Given the description of an element on the screen output the (x, y) to click on. 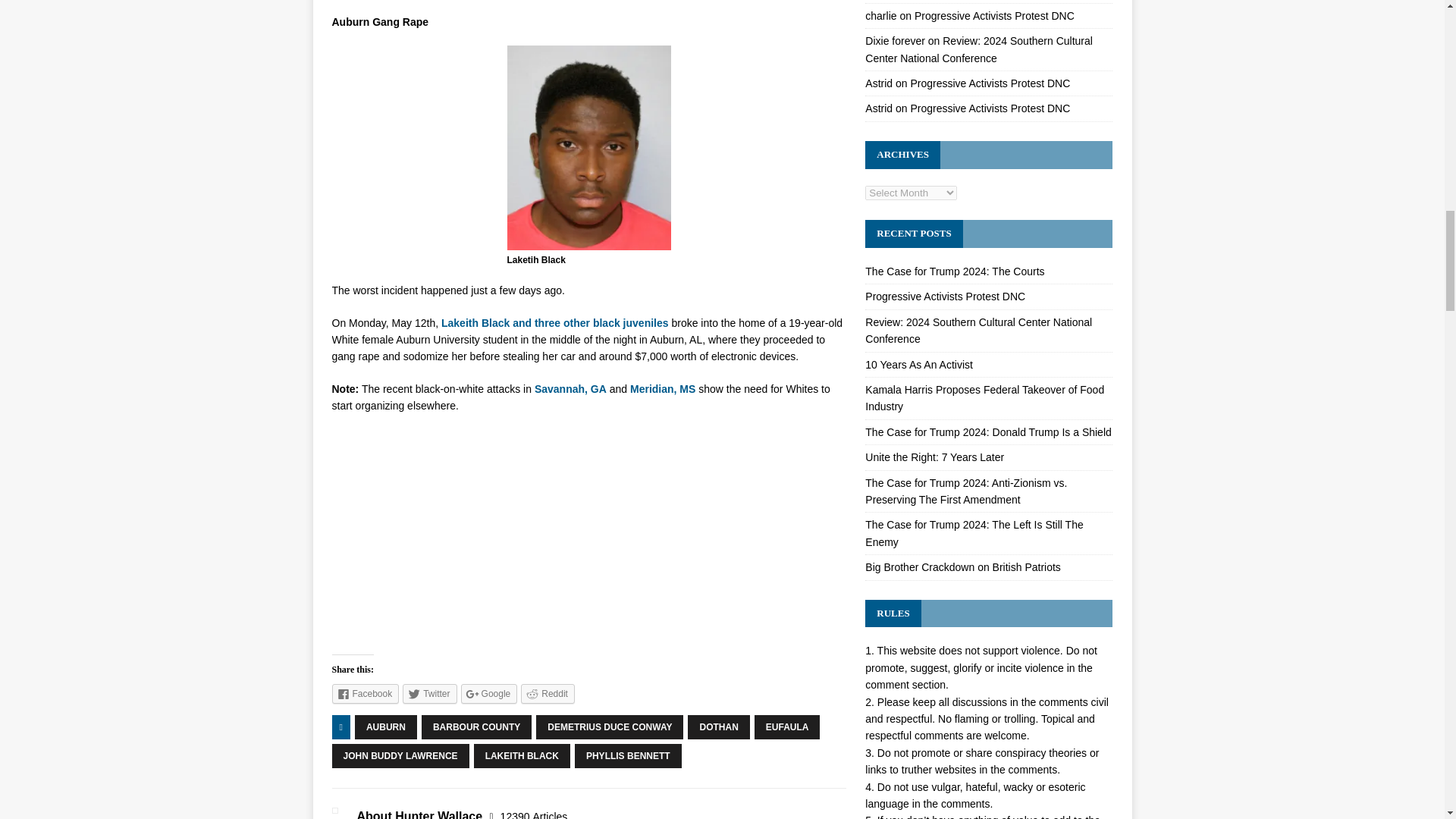
Click to share on Twitter (430, 693)
More articles written by Hunter Wallace' (533, 814)
Click to share on Facebook (364, 693)
Click to share on Reddit (548, 693)
